Given the description of an element on the screen output the (x, y) to click on. 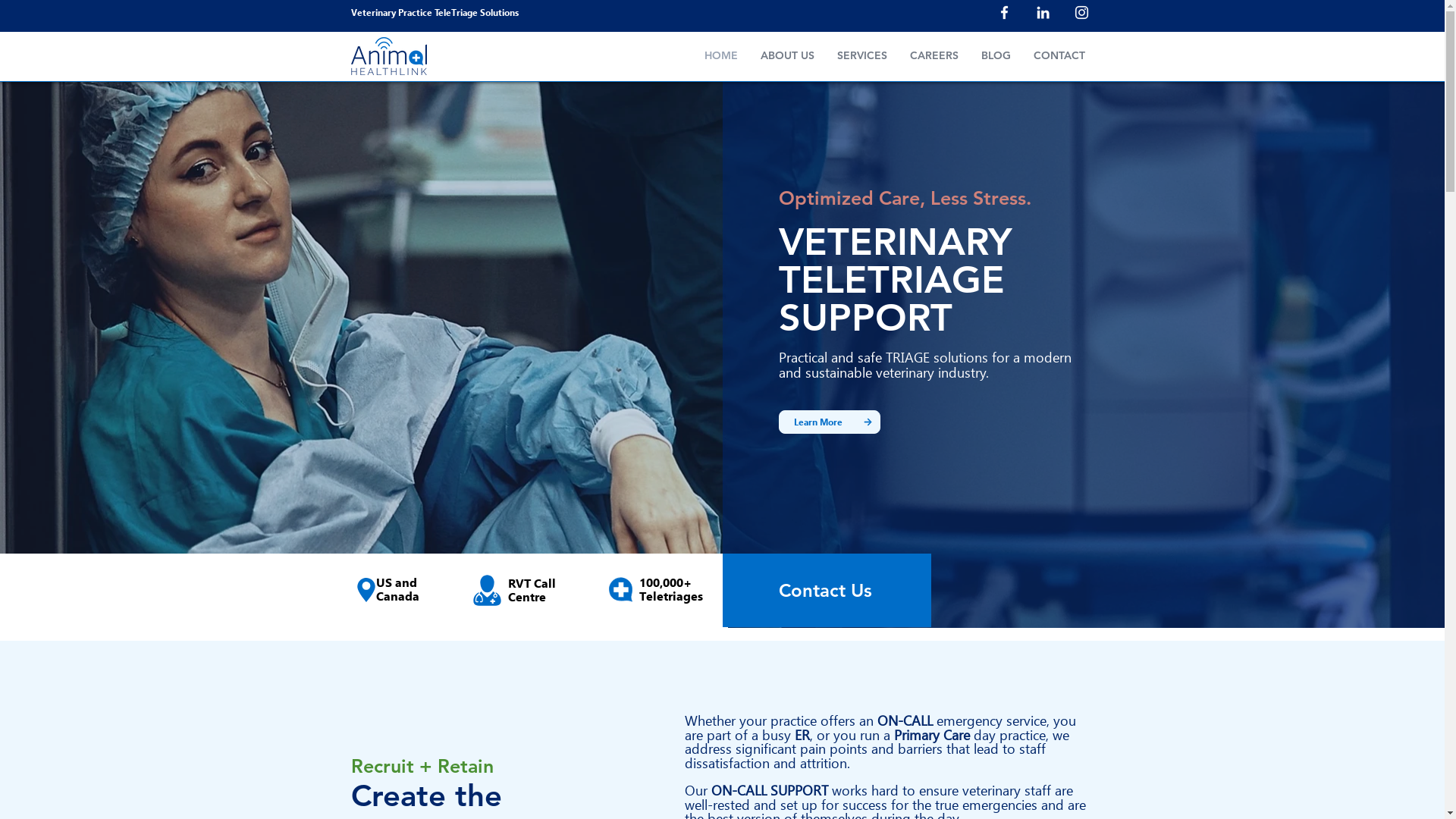
Contact Us Element type: text (826, 590)
ABOUT US Element type: text (787, 55)
BLOG Element type: text (995, 55)
CONTACT Element type: text (1059, 55)
HOME Element type: text (721, 55)
Learn More Element type: text (817, 421)
CAREERS Element type: text (933, 55)
SERVICES Element type: text (861, 55)
